Given the description of an element on the screen output the (x, y) to click on. 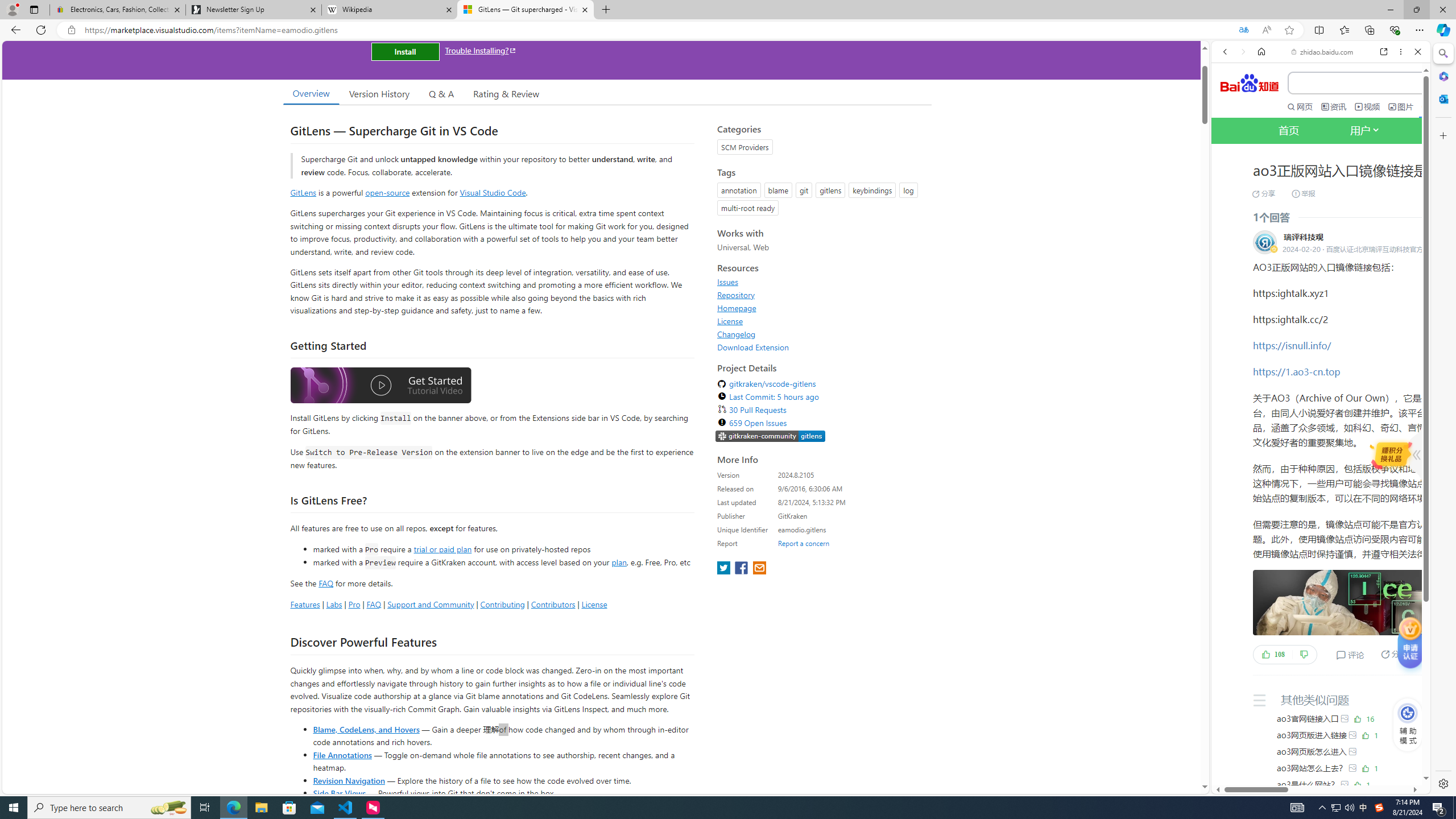
trial or paid plan (442, 548)
Changelog (820, 333)
IMAGES (1262, 192)
Support and Community (430, 603)
Homepage (820, 307)
Class: b_serphb (1404, 193)
Open link in new tab (1383, 51)
Browser essentials (1394, 29)
FAQ (373, 603)
Blame, CodeLens, and Hovers (366, 728)
Repository (820, 294)
